Given the description of an element on the screen output the (x, y) to click on. 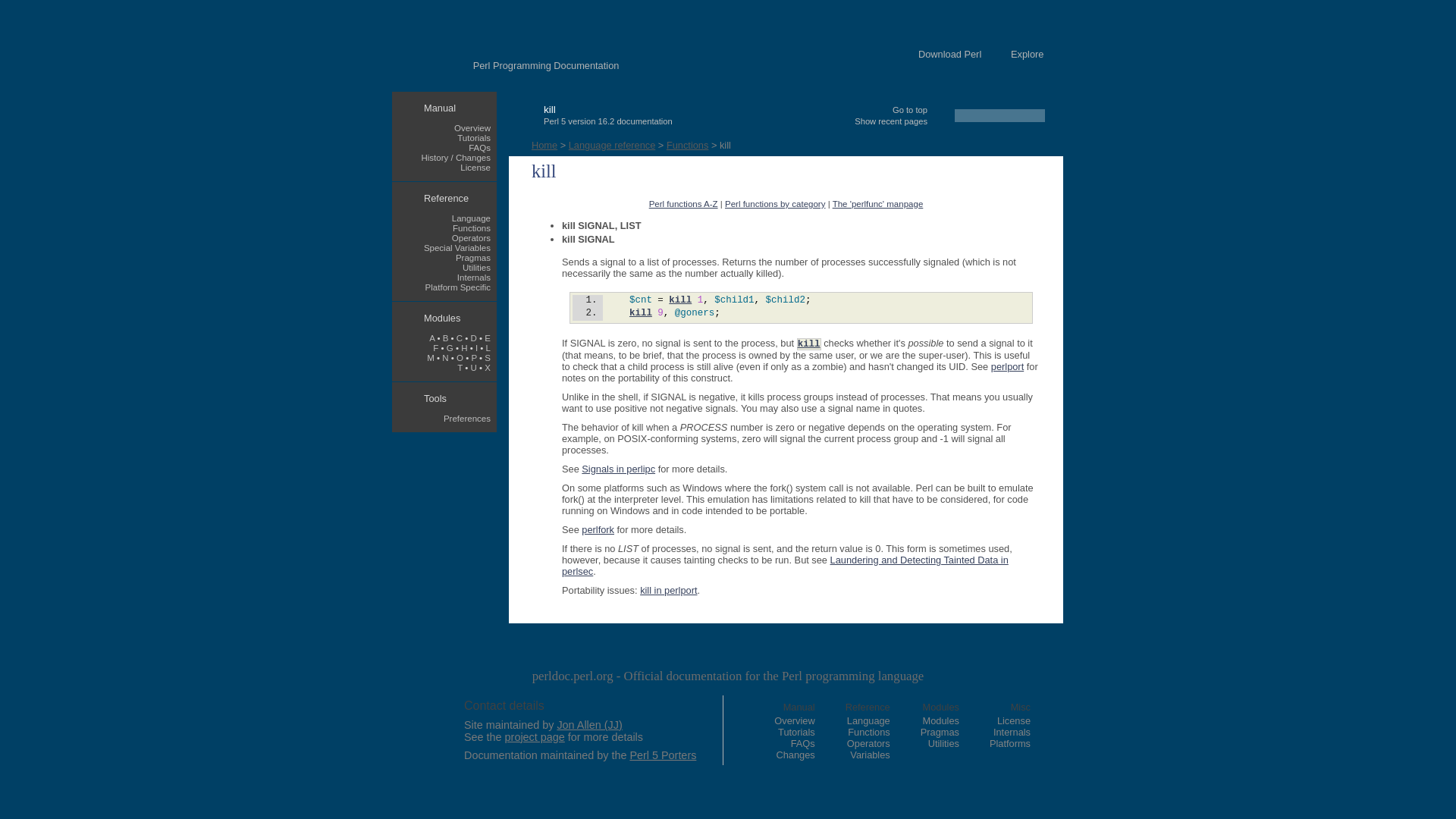
Tutorials (473, 137)
Pragmas (472, 257)
Platform Specific (457, 286)
Operators (470, 237)
Language (470, 217)
Explore (1026, 53)
Download Perl (949, 53)
Preferences (467, 418)
FAQs (479, 147)
Go to top (909, 109)
Overview (472, 127)
Home (544, 144)
Internals (473, 276)
License (475, 166)
Functions (686, 144)
